Given the description of an element on the screen output the (x, y) to click on. 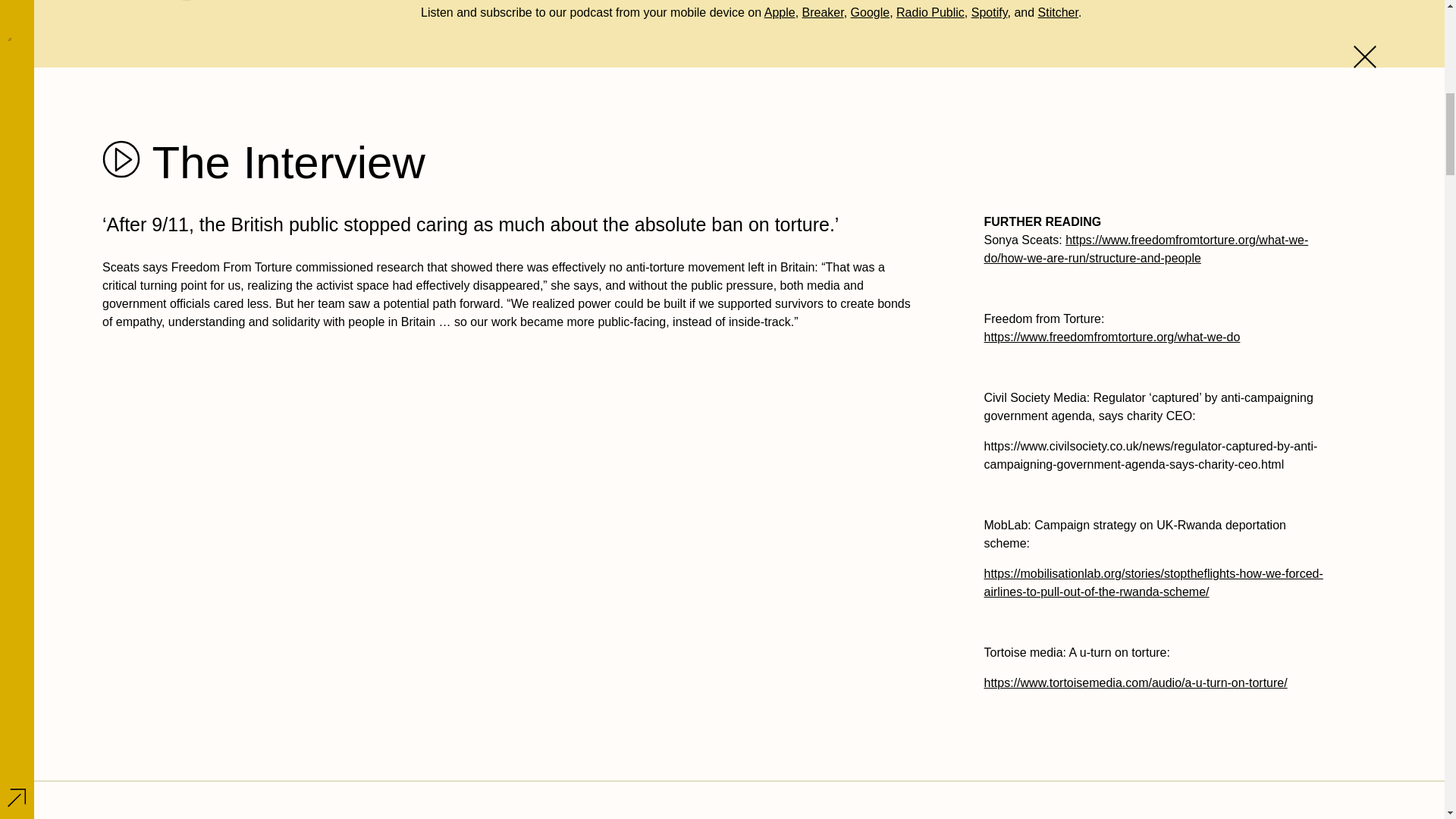
Radio Public (929, 11)
Google (869, 11)
Stitcher (1058, 11)
Breaker (823, 11)
Spotify (989, 11)
Apple (779, 11)
